Given the description of an element on the screen output the (x, y) to click on. 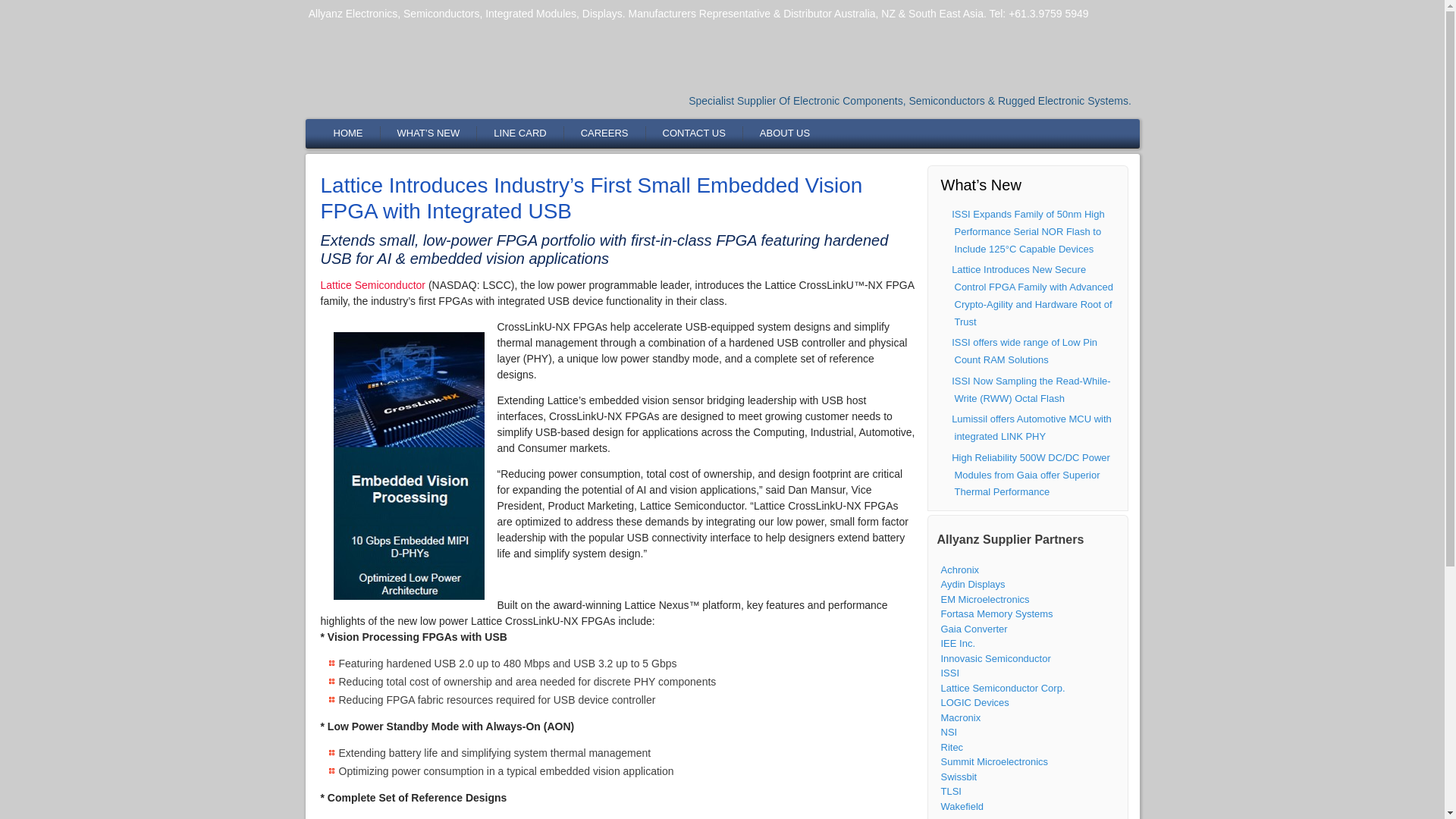
Innovasic Semiconductor (994, 657)
Lumissil offers Automotive MCU with integrated LINK PHY (1032, 427)
ABOUT US (784, 133)
LINE CARD (519, 133)
LOGIC Devices (974, 702)
Lattice Semiconductor (372, 285)
Careers (604, 133)
Contact Us (693, 133)
Wakefield (962, 806)
